Given the description of an element on the screen output the (x, y) to click on. 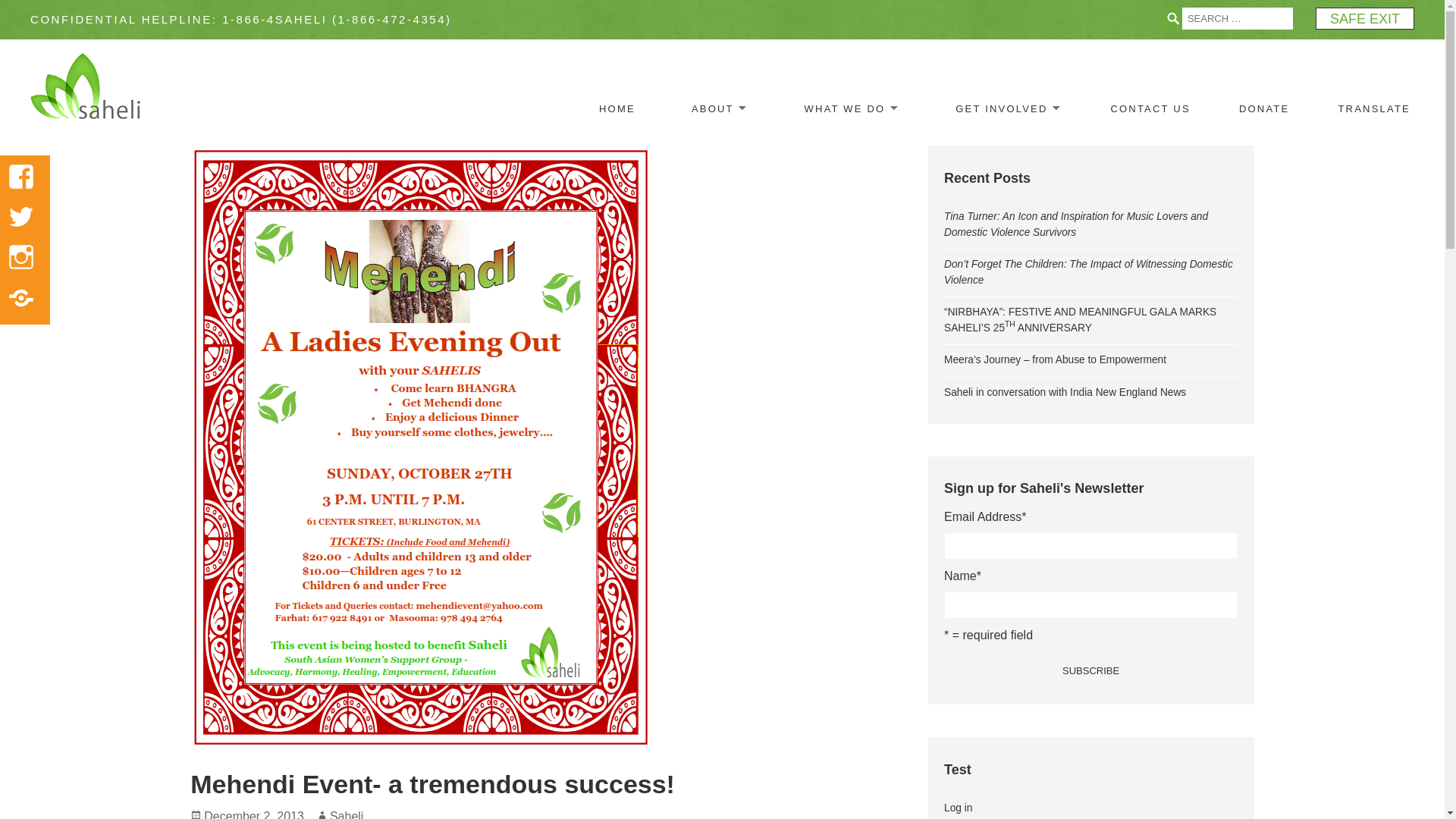
TRANSLATE (1374, 109)
Saheli (346, 814)
CONTACT US (1149, 109)
GET INVOLVED (1004, 105)
Subscribe (1091, 670)
WHAT WE DO (847, 105)
DONATE (1263, 109)
